Given the description of an element on the screen output the (x, y) to click on. 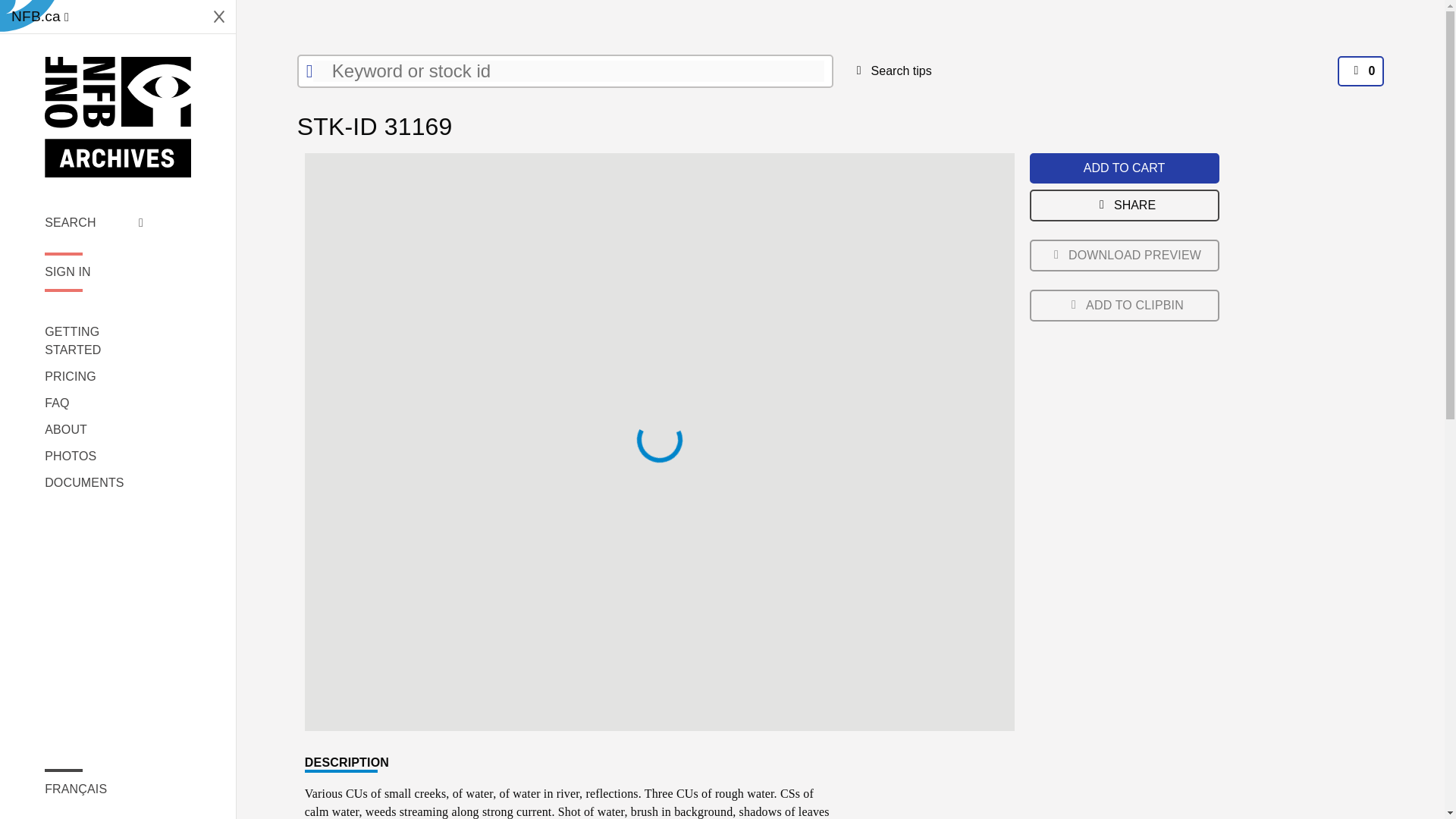
SEARCH (93, 222)
PRICING (93, 376)
DOCUMENTS (93, 483)
SIGN IN (93, 271)
NFB.ca (39, 16)
SHARE (1124, 205)
FAQ (93, 402)
0 (1361, 71)
Watch films on NFB.ca (39, 16)
ADD TO CART (1124, 168)
